Given the description of an element on the screen output the (x, y) to click on. 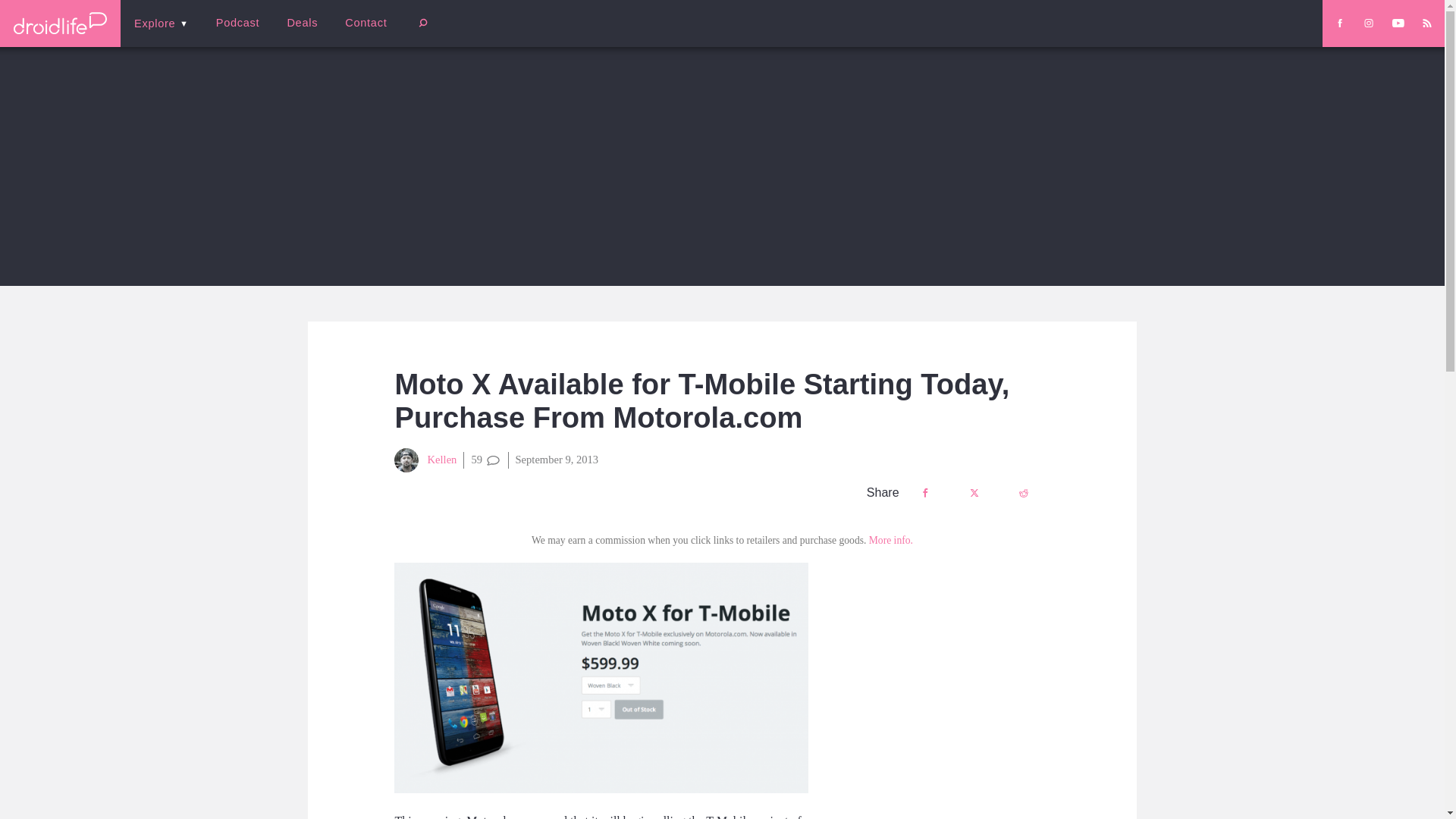
Podcast (237, 23)
Deals (302, 23)
Droid Life on YouTube (1398, 23)
Beginners' Guide (360, 33)
Droid Life RSS (1426, 23)
Contact (365, 23)
Droid Life on Facebook (1339, 23)
Droid Life on Instagram (1368, 23)
Explore (161, 23)
Kellen (425, 459)
